Given the description of an element on the screen output the (x, y) to click on. 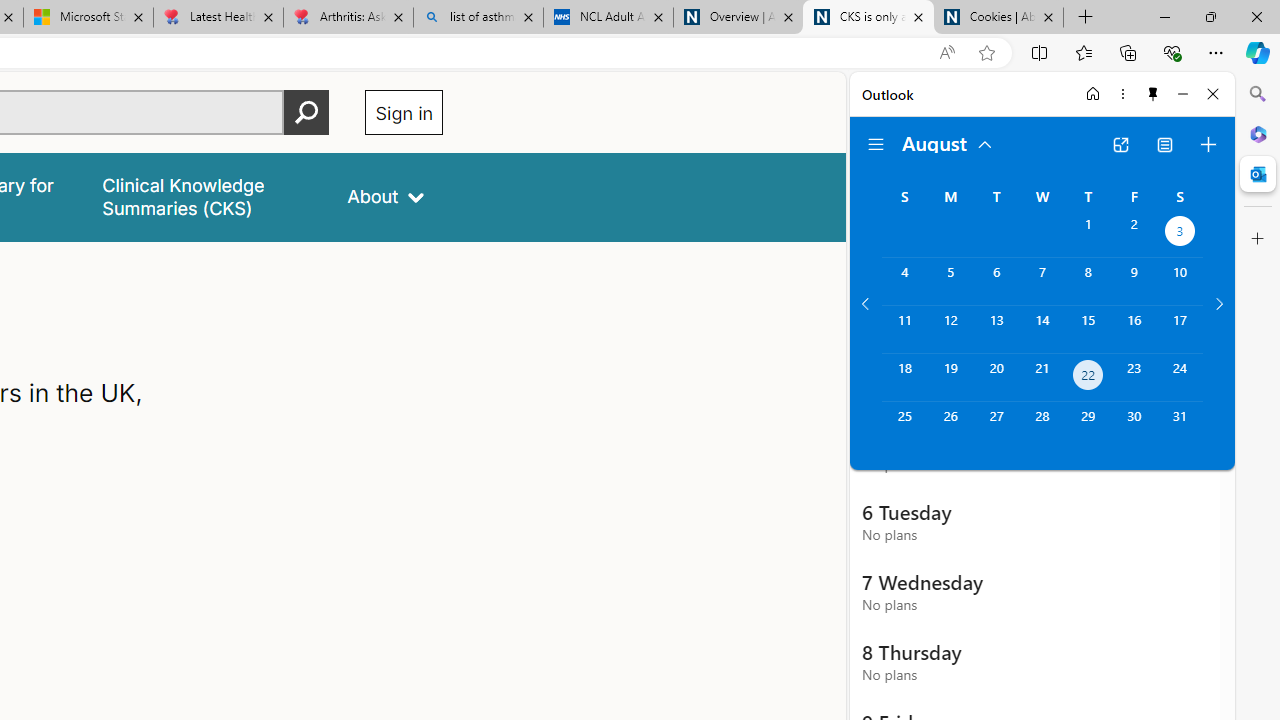
Wednesday, August 14, 2024.  (1042, 329)
Wednesday, August 7, 2024.  (1042, 281)
Friday, August 30, 2024.  (1134, 425)
Tuesday, August 13, 2024.  (996, 329)
Monday, August 19, 2024.  (950, 377)
Sunday, August 18, 2024.  (904, 377)
Tuesday, August 6, 2024.  (996, 281)
